Given the description of an element on the screen output the (x, y) to click on. 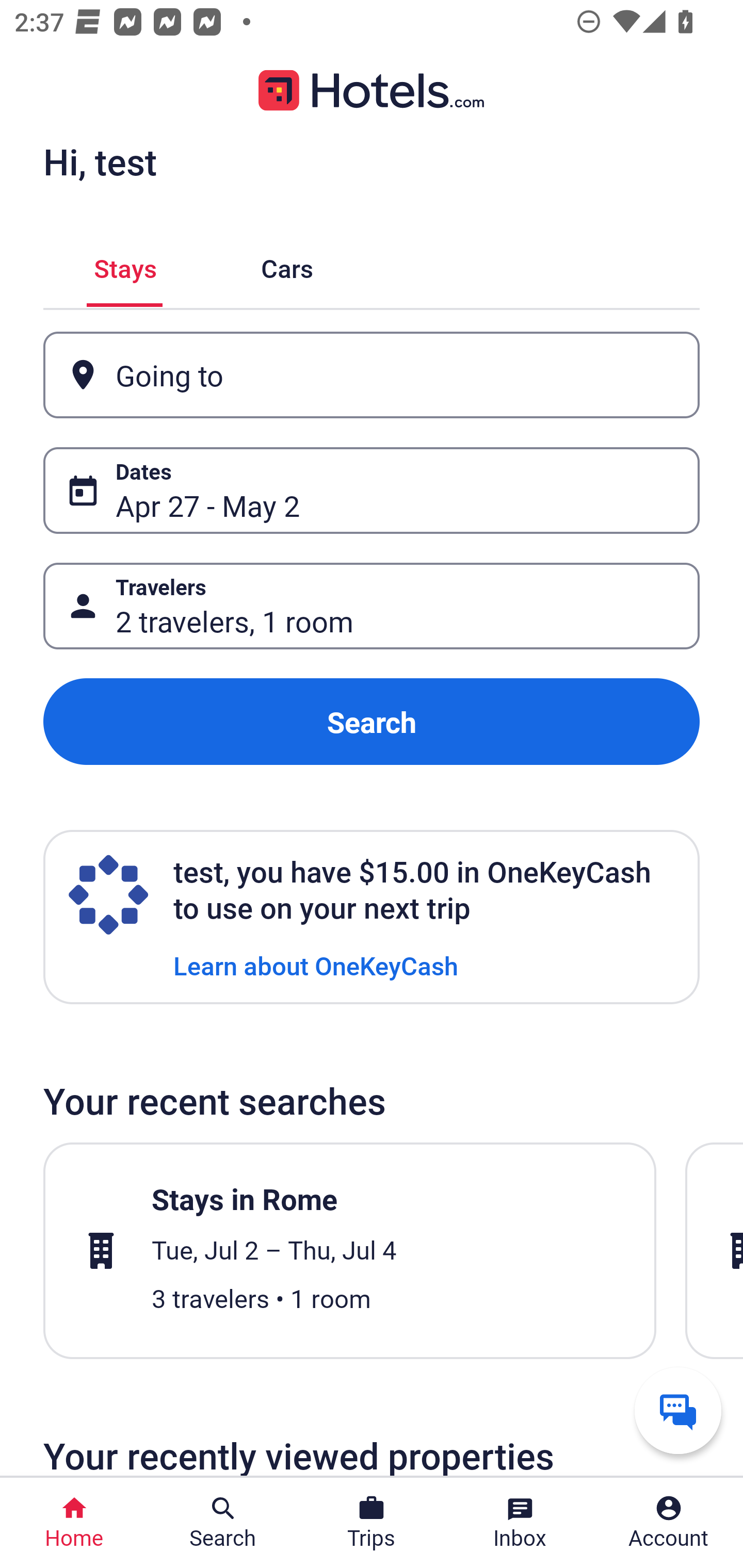
Hi, test (99, 161)
Cars (286, 265)
Going to Button (371, 375)
Dates Button Apr 27 - May 2 (371, 489)
Travelers Button 2 travelers, 1 room (371, 605)
Search (371, 721)
Learn about OneKeyCash Learn about OneKeyCash Link (315, 964)
Get help from a virtual agent (677, 1410)
Search Search Button (222, 1522)
Trips Trips Button (371, 1522)
Inbox Inbox Button (519, 1522)
Account Profile. Button (668, 1522)
